Given the description of an element on the screen output the (x, y) to click on. 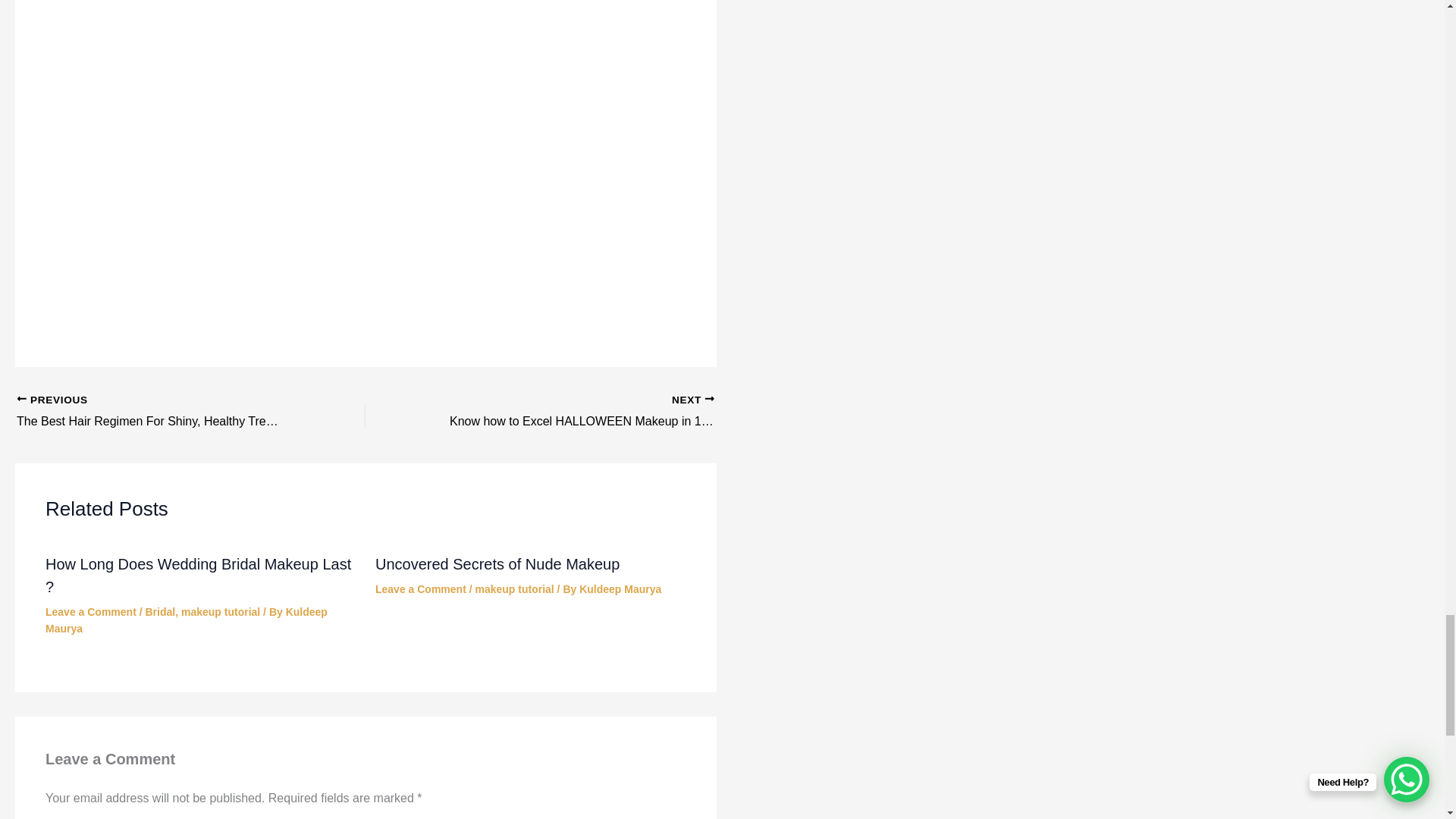
View all posts by Kuldeep Maurya (620, 589)
Know how to Excel HALLOWEEN Makeup in 10 days (573, 412)
View all posts by Kuldeep Maurya (186, 620)
